Given the description of an element on the screen output the (x, y) to click on. 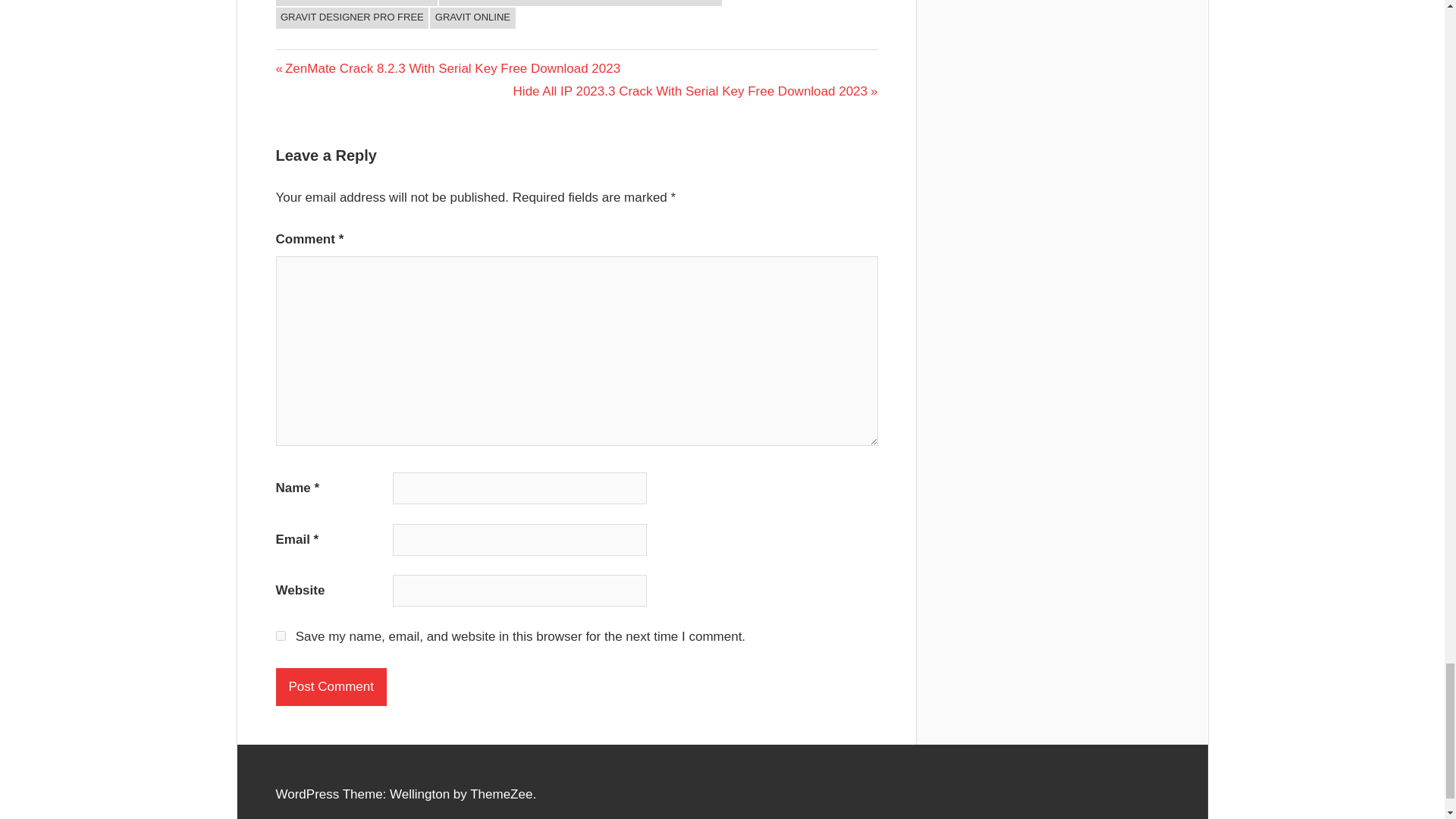
GRAVIT ONLINE (472, 17)
Post Comment (331, 686)
GRAVIT DESIGNER PRO CRACK GRAVIT DESIGNER FREE (580, 2)
GRAVIT DESIGNER PRO FREE (352, 17)
GRAVIT DESIGNER PRO 1 YEAR (357, 2)
Post Comment (331, 686)
yes (280, 635)
